Given the description of an element on the screen output the (x, y) to click on. 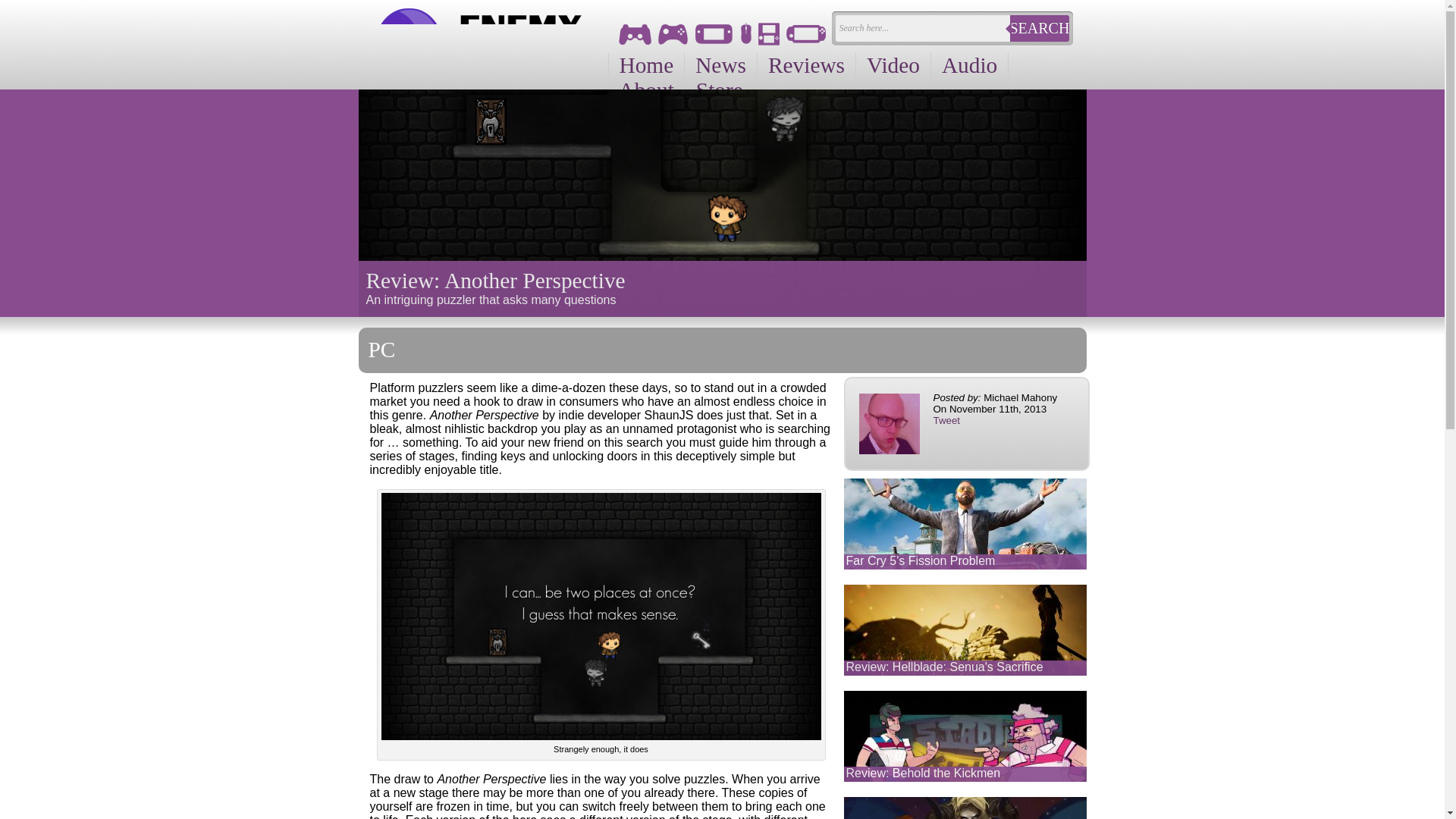
Audio (970, 65)
News (720, 65)
Store (719, 90)
About (646, 90)
Video (893, 65)
Review: Behold the Kickmen (923, 772)
Home (646, 65)
Enemy Slime (472, 44)
Far Cry 5's Fission Problem (920, 560)
Permanent Link to Review: Behold the Kickmen (923, 772)
Review: Hellblade: Senua's Sacrifice (944, 666)
SEARCH (1039, 28)
Review: Another Perspective (721, 287)
Tweet (946, 419)
Reviews (806, 65)
